Given the description of an element on the screen output the (x, y) to click on. 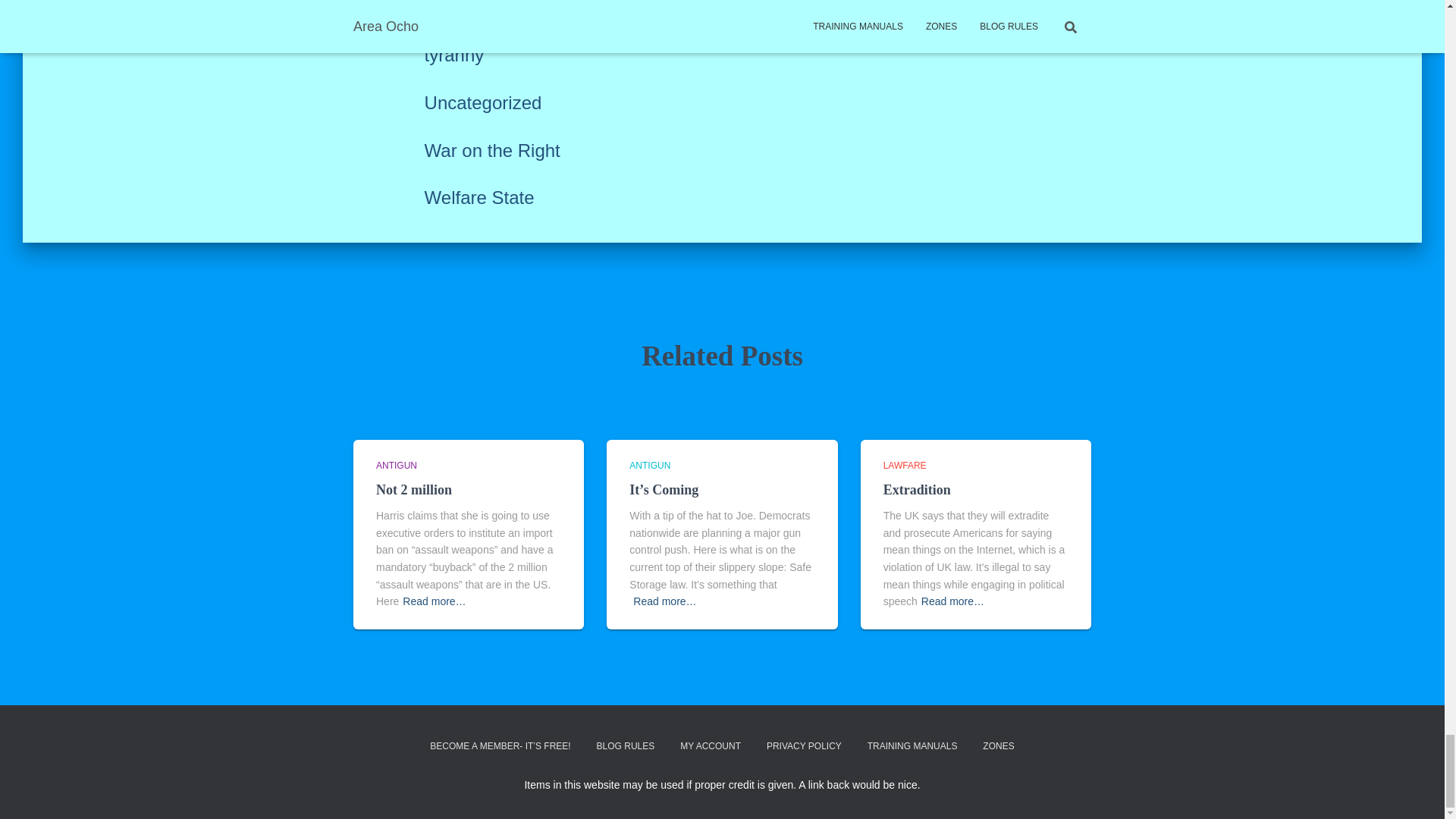
Extradition (916, 489)
View all posts in Antigun (648, 465)
View all posts in Lawfare (904, 465)
View all posts in Antigun (395, 465)
Not 2 million (413, 489)
